Given the description of an element on the screen output the (x, y) to click on. 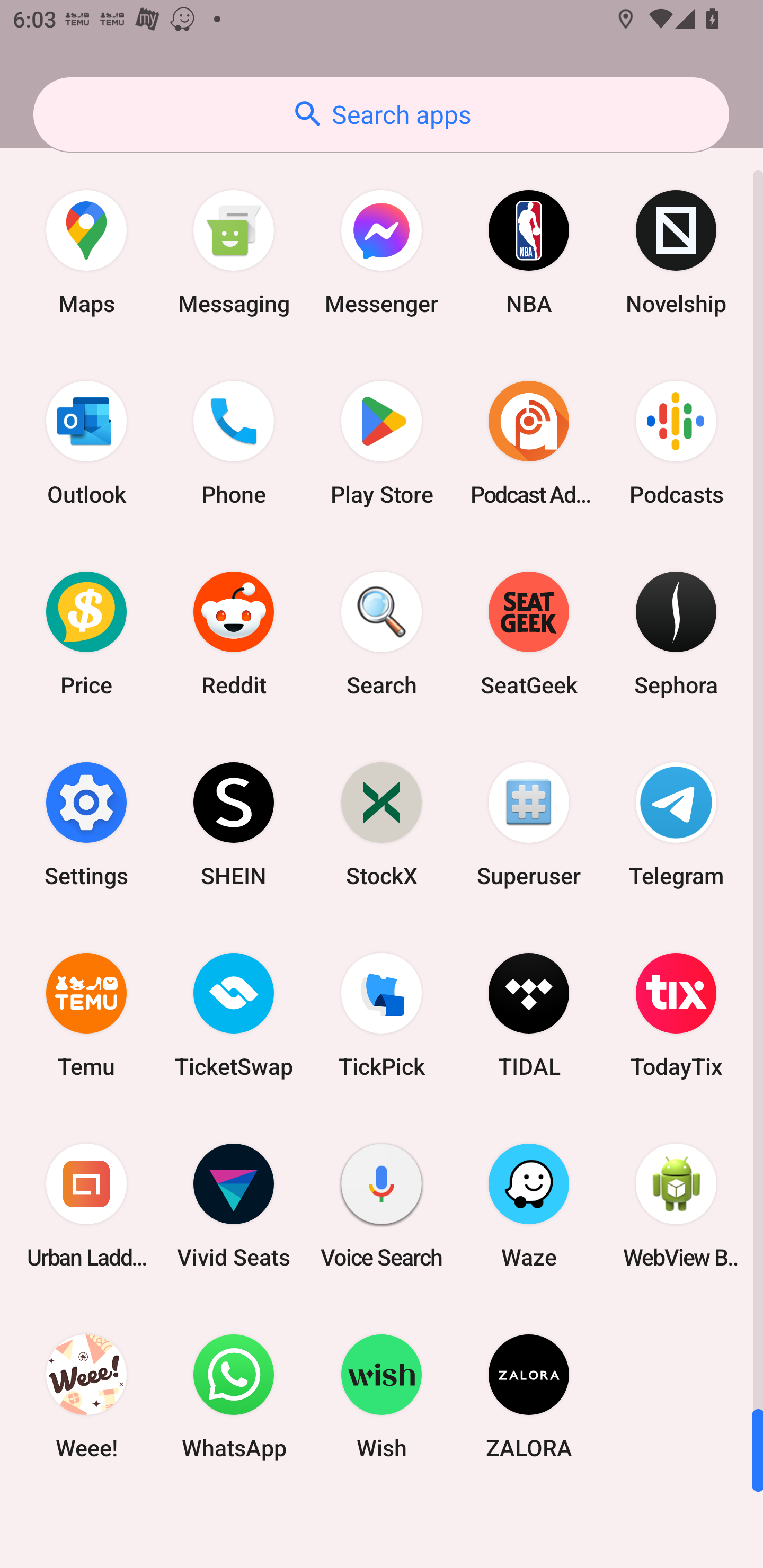
  Search apps (381, 114)
Maps (86, 252)
Messaging (233, 252)
Messenger (381, 252)
NBA (528, 252)
Novelship (676, 252)
Outlook (86, 442)
Phone (233, 442)
Play Store (381, 442)
Podcast Addict (528, 442)
Podcasts (676, 442)
Price (86, 633)
Reddit (233, 633)
Search (381, 633)
SeatGeek (528, 633)
Sephora (676, 633)
Settings (86, 823)
SHEIN (233, 823)
StockX (381, 823)
Superuser (528, 823)
Telegram (676, 823)
Temu (86, 1014)
TicketSwap (233, 1014)
TickPick (381, 1014)
TIDAL (528, 1014)
TodayTix (676, 1014)
Urban Ladder (86, 1205)
Vivid Seats (233, 1205)
Voice Search (381, 1205)
Waze (528, 1205)
WebView Browser Tester (676, 1205)
Weee! (86, 1396)
WhatsApp (233, 1396)
Wish (381, 1396)
ZALORA (528, 1396)
